Given the description of an element on the screen output the (x, y) to click on. 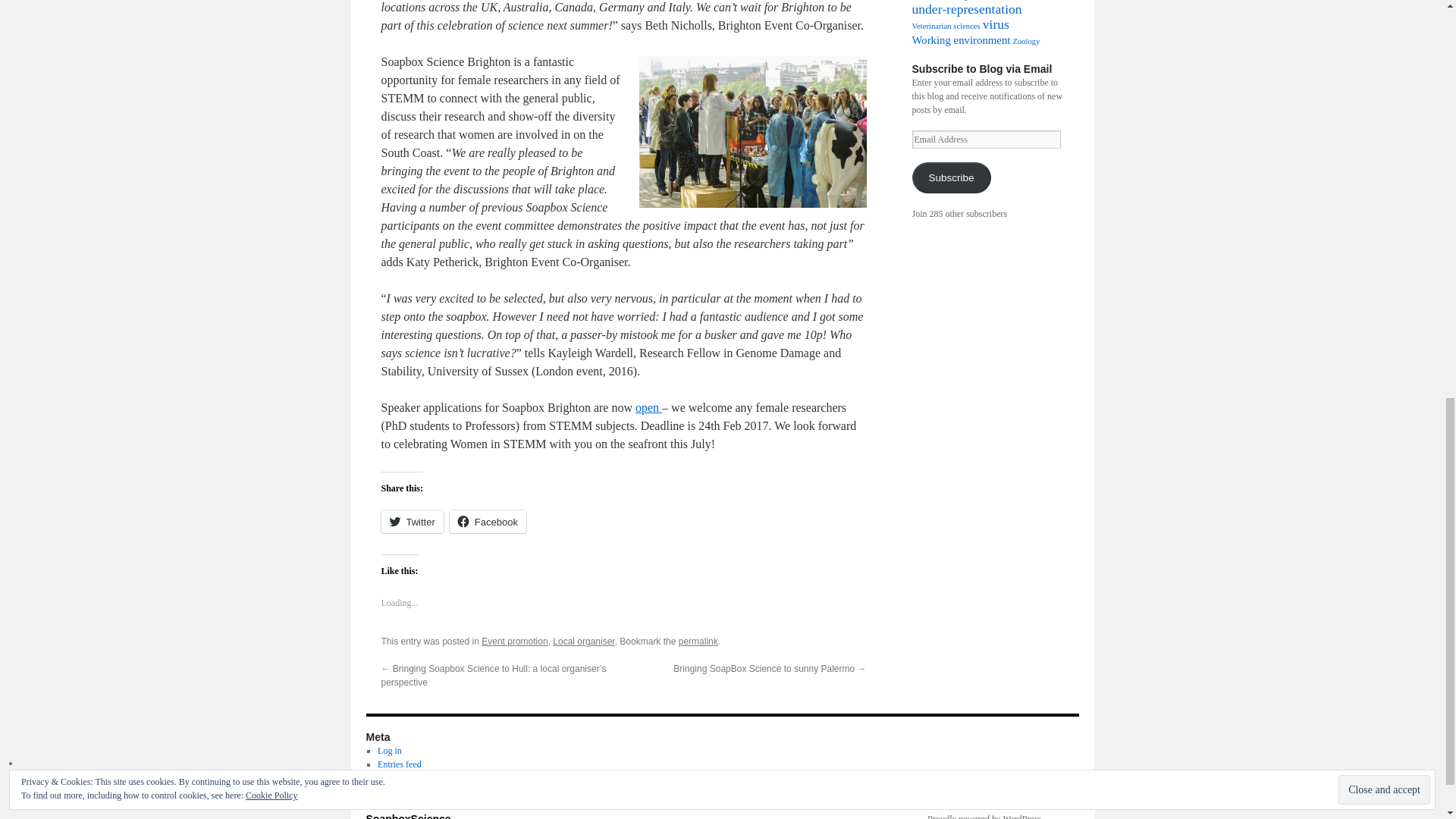
open (648, 407)
SoapboxScience (407, 816)
Click to share on Twitter (411, 521)
Twitter (411, 521)
Semantic Personal Publishing Platform (977, 816)
Event promotion (514, 641)
Facebook (487, 521)
Local organiser (583, 641)
Click to share on Facebook (487, 521)
